Given the description of an element on the screen output the (x, y) to click on. 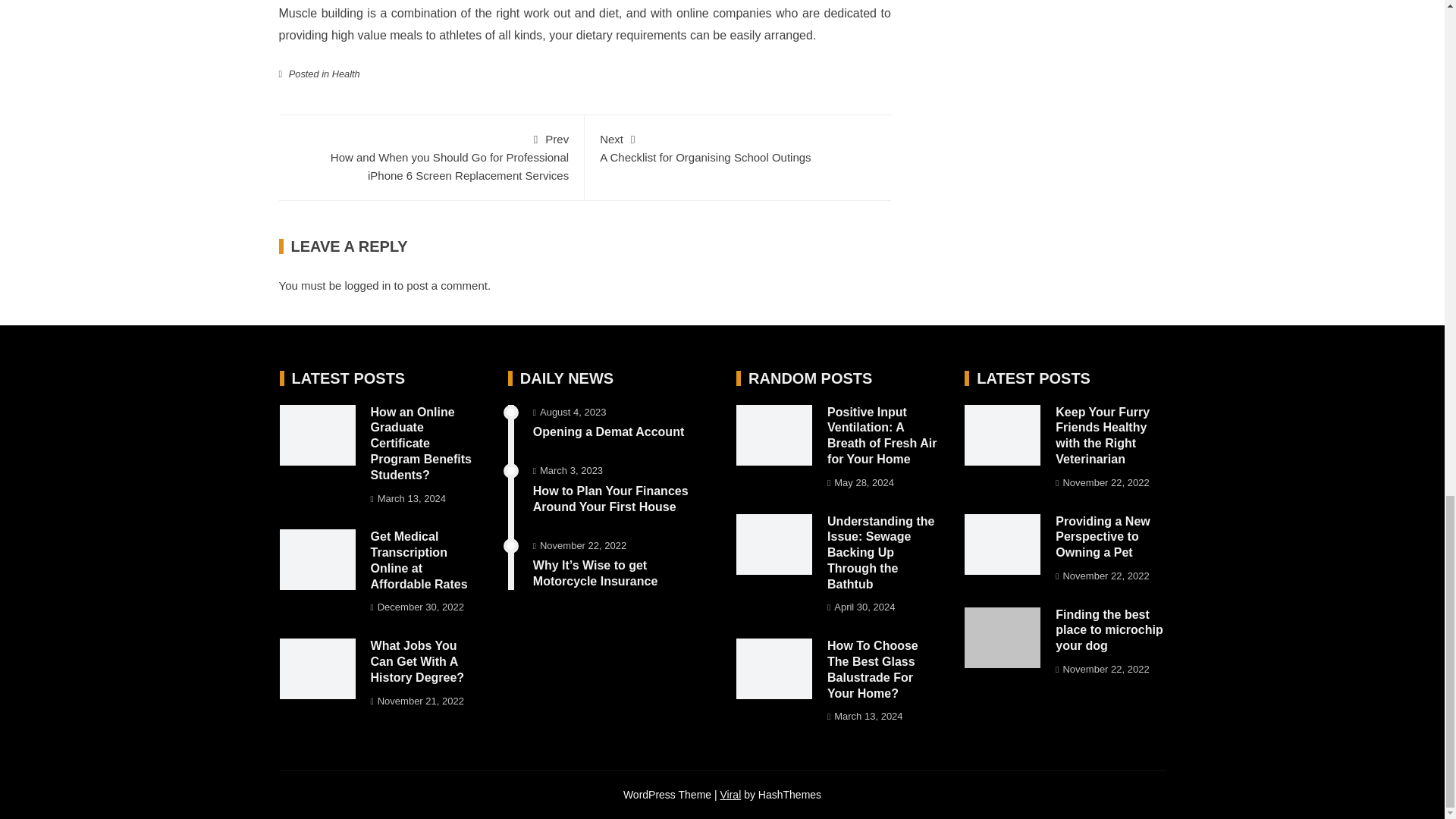
Get Medical Transcription Online at Affordable Rates (419, 559)
Health (737, 146)
logged in (345, 73)
Download Viral (368, 285)
